Given the description of an element on the screen output the (x, y) to click on. 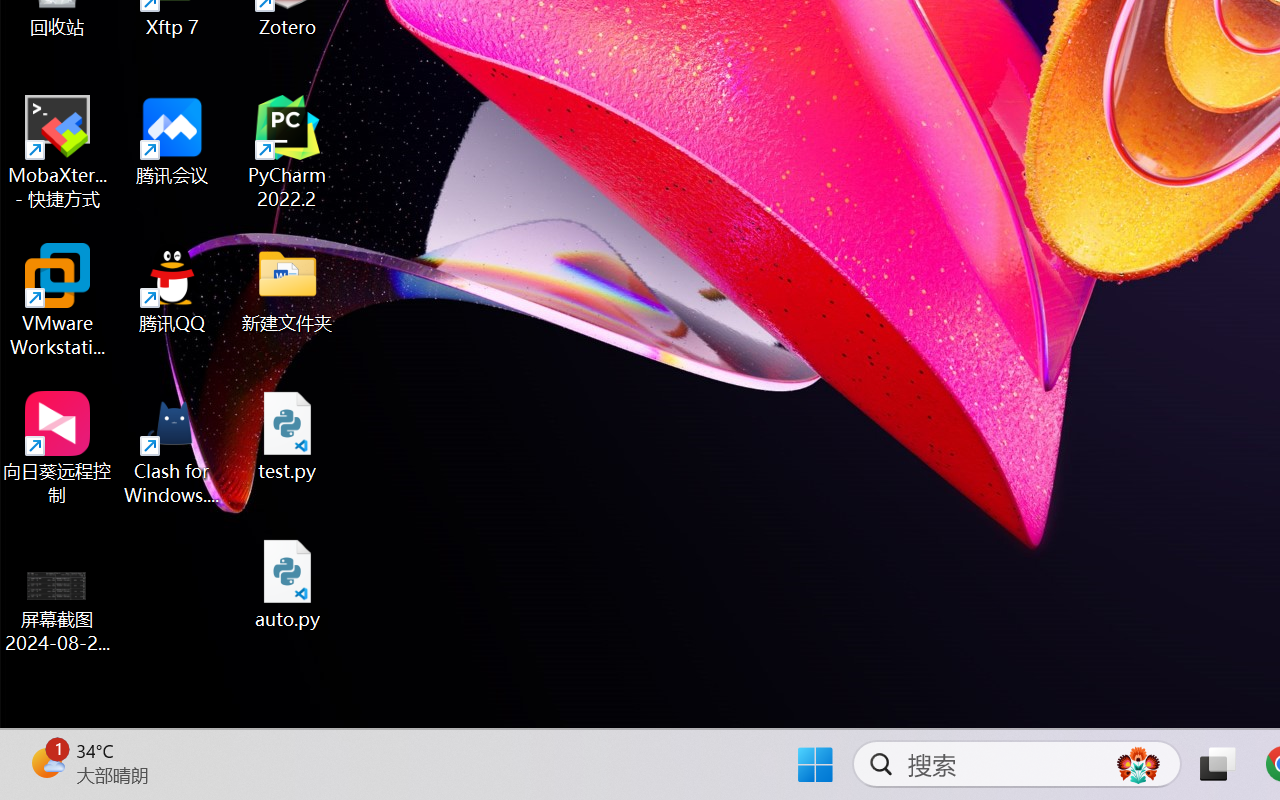
VMware Workstation Pro (57, 300)
PyCharm 2022.2 (287, 152)
test.py (287, 436)
